Given the description of an element on the screen output the (x, y) to click on. 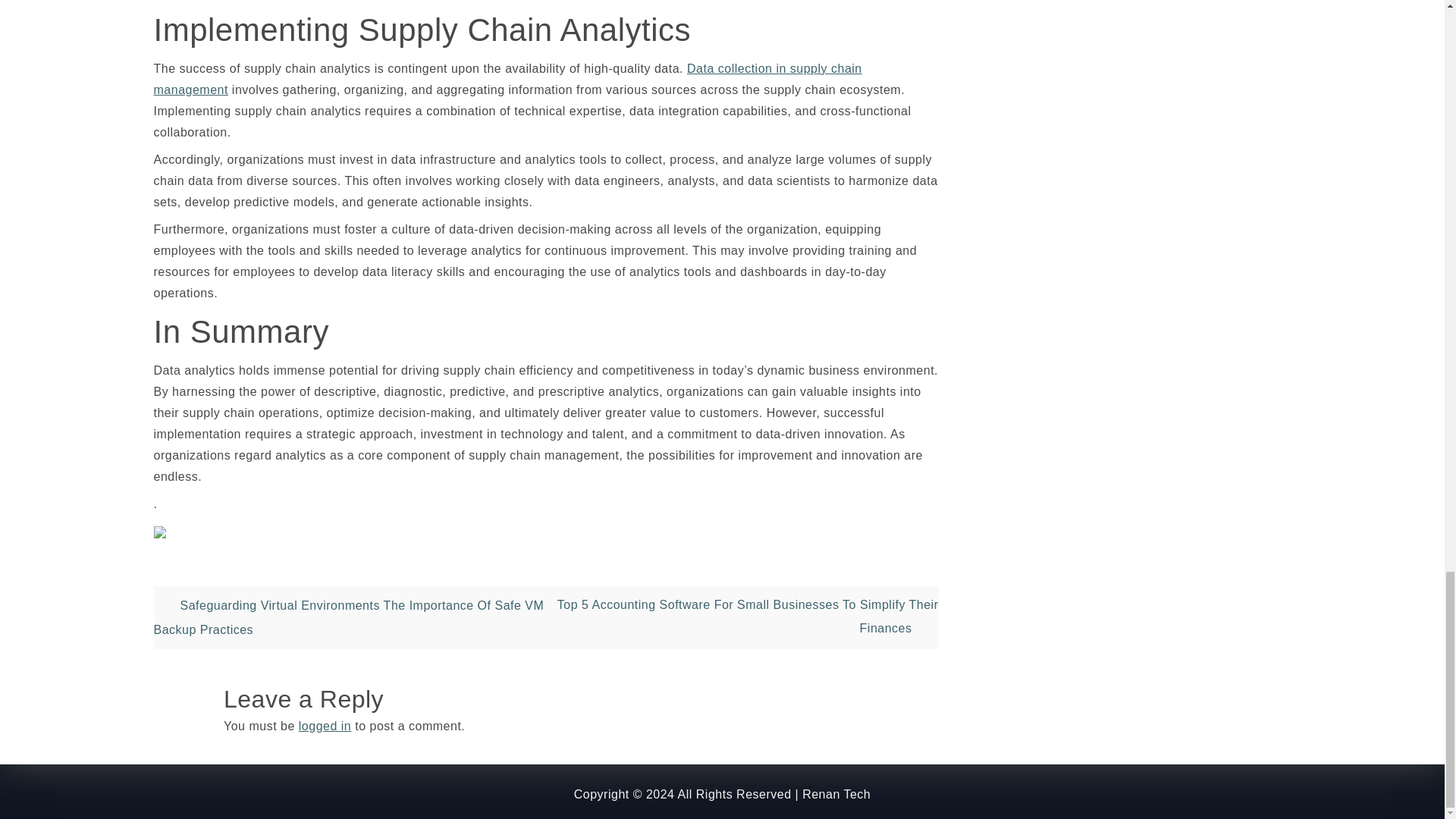
logged in (324, 725)
Data collection in supply chain management (506, 79)
